Given the description of an element on the screen output the (x, y) to click on. 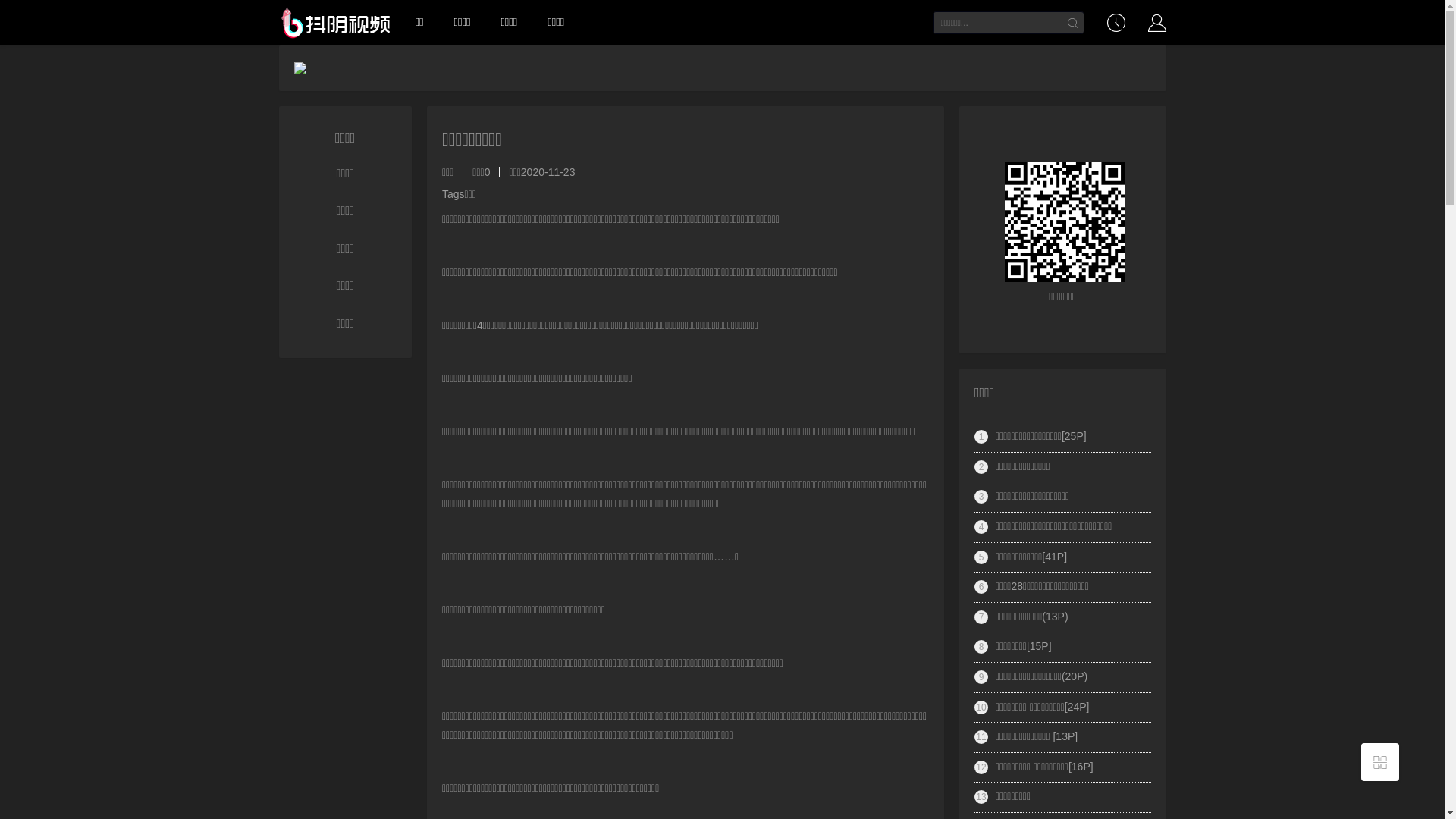
https://www.38dav.com/xingaijiqiao/25814/ Element type: hover (1062, 214)
